Given the description of an element on the screen output the (x, y) to click on. 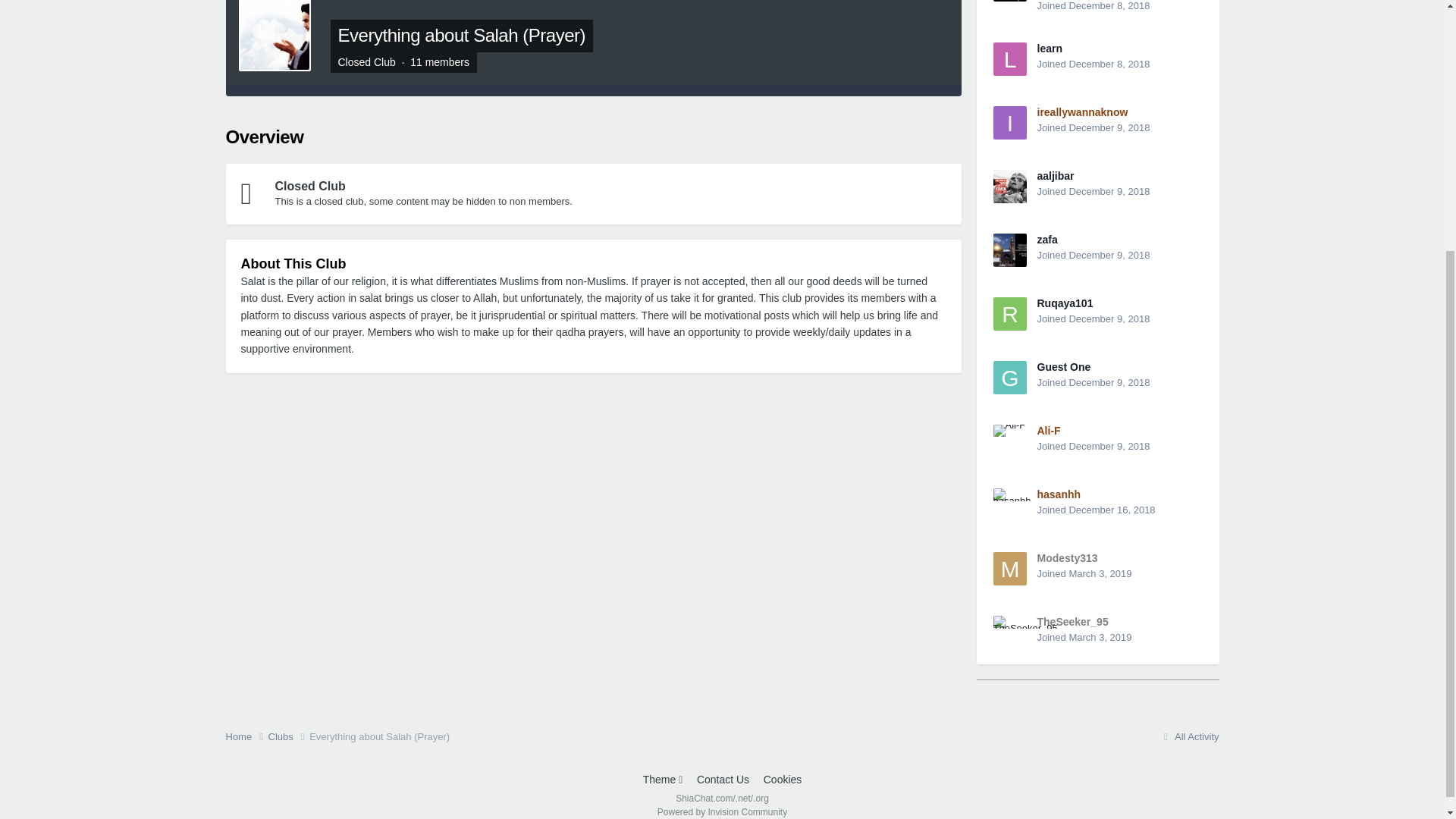
Go to ireallywannaknow's profile (1082, 111)
Go to zafa's profile (1047, 239)
Go to Ruqaya101's profile (1009, 313)
Go to Ali-F's profile (1048, 430)
Go to learn's profile (1009, 59)
Go to Ali-F's profile (1009, 441)
Go to ireallywannaknow's profile (1009, 122)
Go to zafa's profile (1009, 249)
Go to Guest One's profile (1063, 367)
Go to hasanhh's profile (1009, 504)
